Given the description of an element on the screen output the (x, y) to click on. 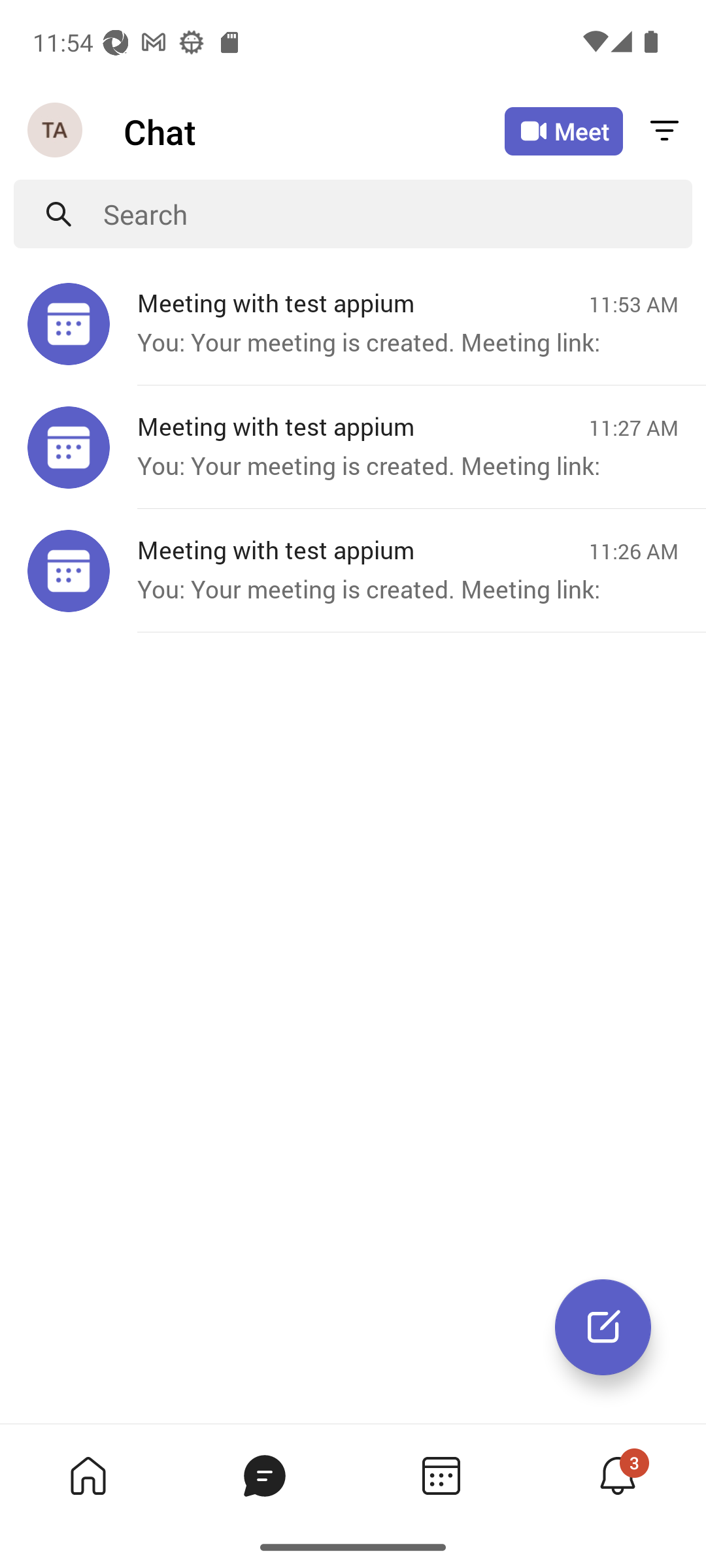
Filter chat messages (664, 131)
Navigation (56, 130)
Meet Meet now or join with an ID (563, 130)
Search (397, 213)
New chat (602, 1327)
Home tab,1 of 4, not selected (88, 1475)
Chat tab, 2 of 4 (264, 1475)
Calendar tab,3 of 4, not selected (441, 1475)
Activity tab,4 of 4, not selected, 3 new 3 (617, 1475)
